Given the description of an element on the screen output the (x, y) to click on. 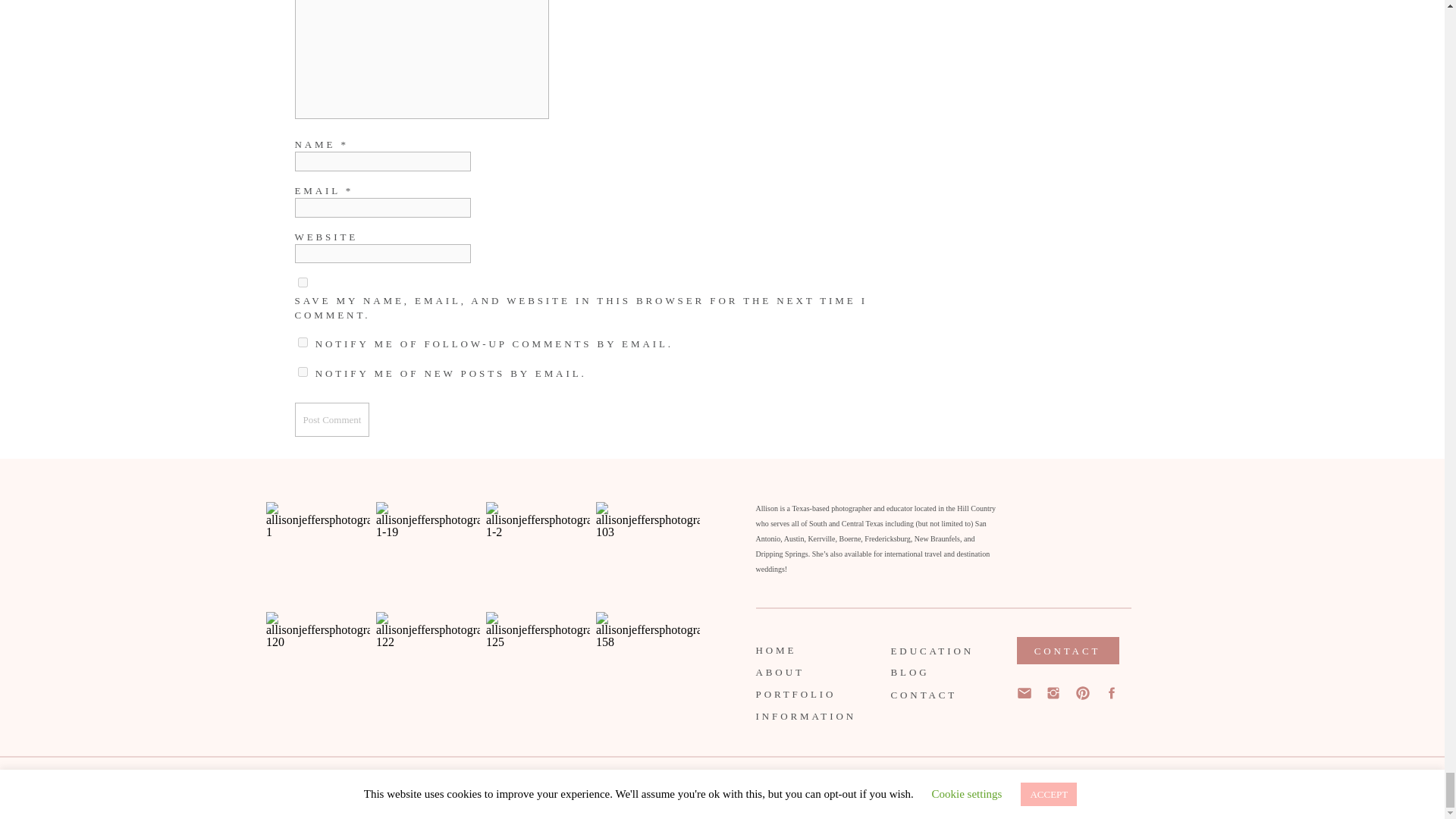
allisonjeffersphotography-122 (427, 663)
allisonjeffersphotography-120 (317, 663)
allisonjeffersphotography-1 (317, 554)
allisonjeffersphotography-1-19 (427, 554)
Post Comment (331, 419)
subscribe (302, 371)
subscribe (302, 342)
yes (302, 282)
allisonjeffersphotography-125 (537, 663)
allisonjeffersphotography-158 (647, 663)
allisonjeffersphotography-103 (647, 554)
allisonjeffersphotography-1-2 (537, 554)
